Given the description of an element on the screen output the (x, y) to click on. 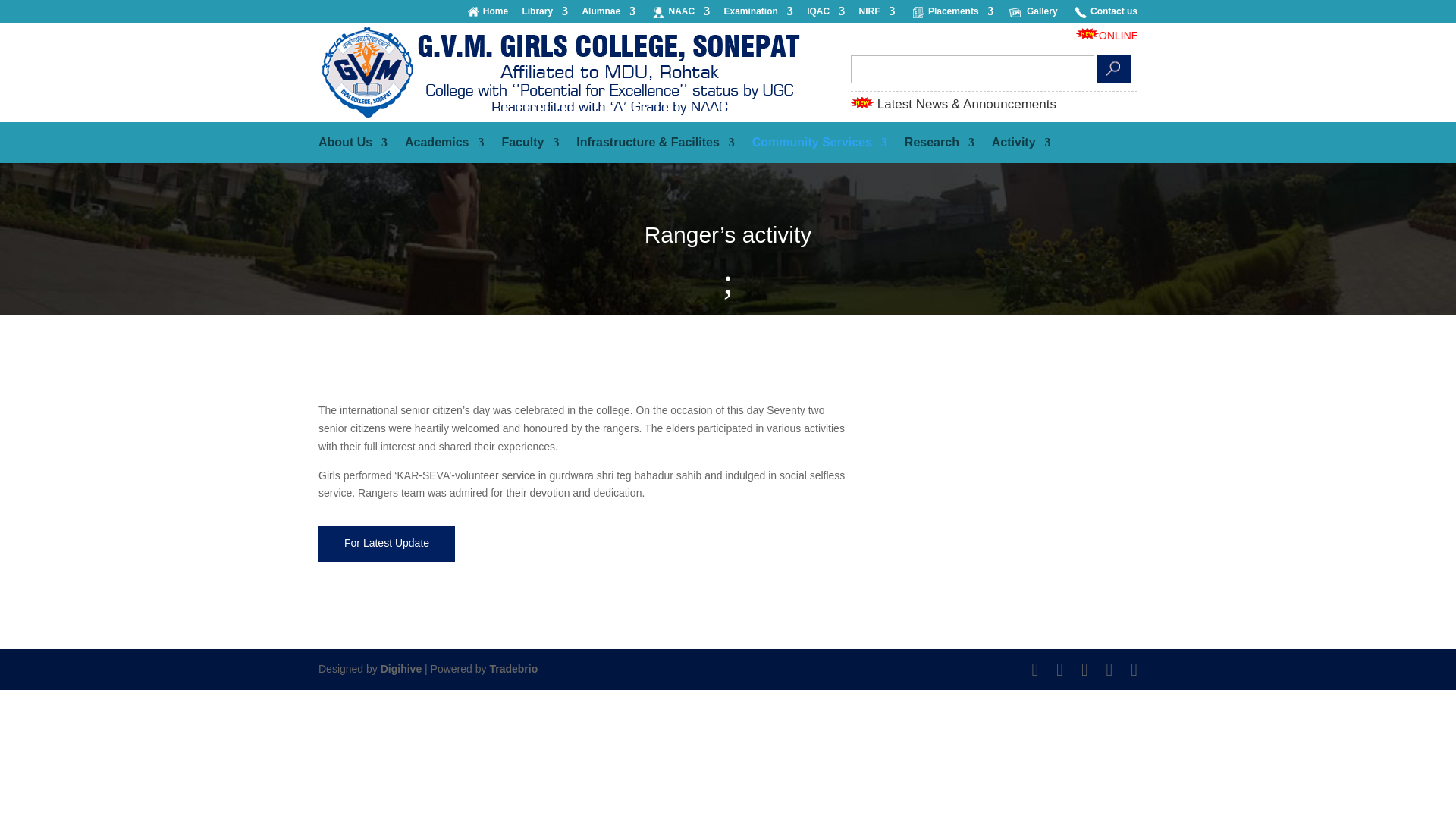
Library (544, 14)
Examination (757, 14)
Home (495, 14)
IQAC (825, 14)
Gallery (1042, 14)
Alumnae (607, 14)
NAAC (689, 14)
Placements (961, 14)
Website design company (401, 668)
NIRF (877, 14)
Search (1114, 68)
